Given the description of an element on the screen output the (x, y) to click on. 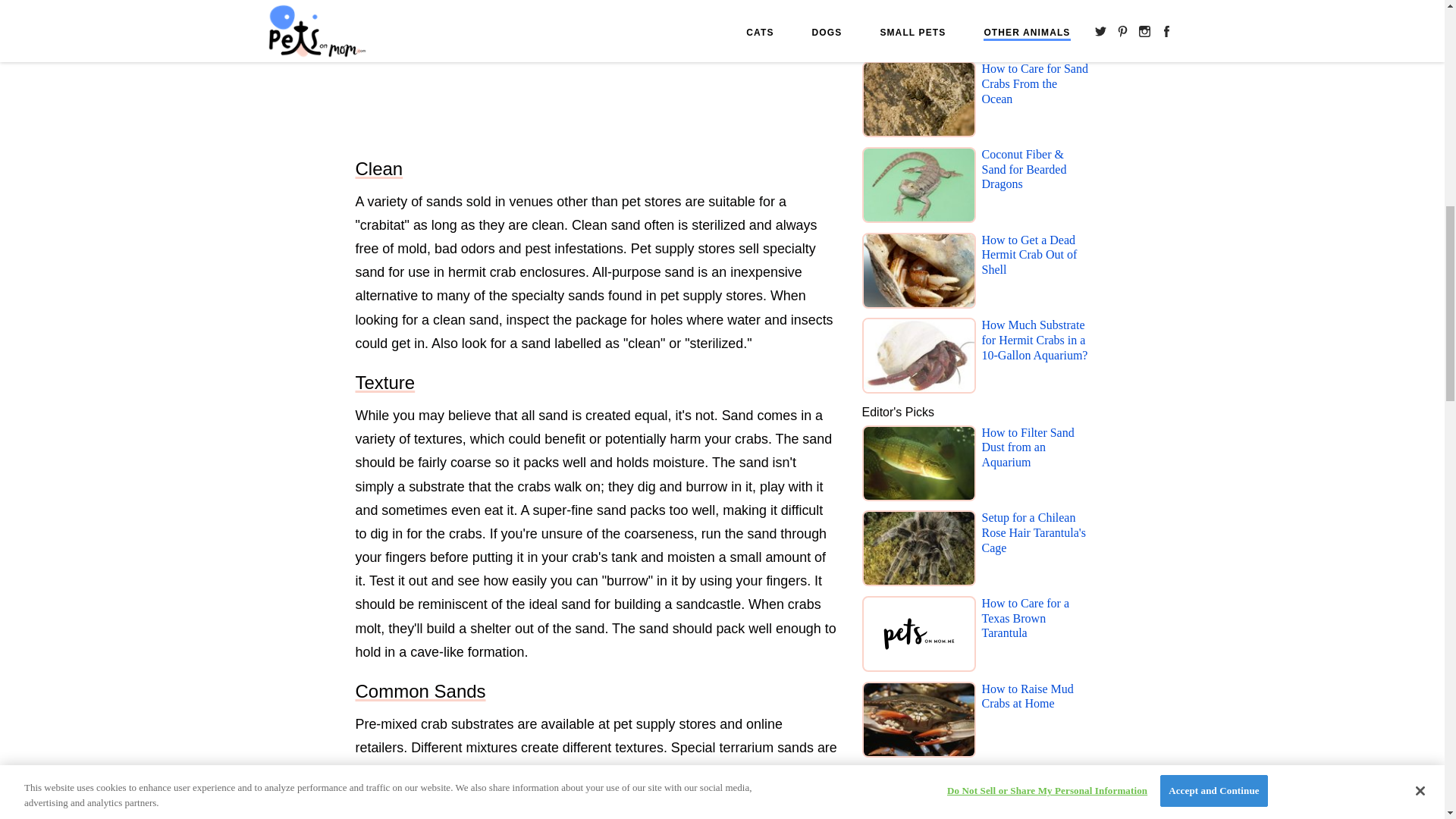
Advertisement (596, 70)
